Given the description of an element on the screen output the (x, y) to click on. 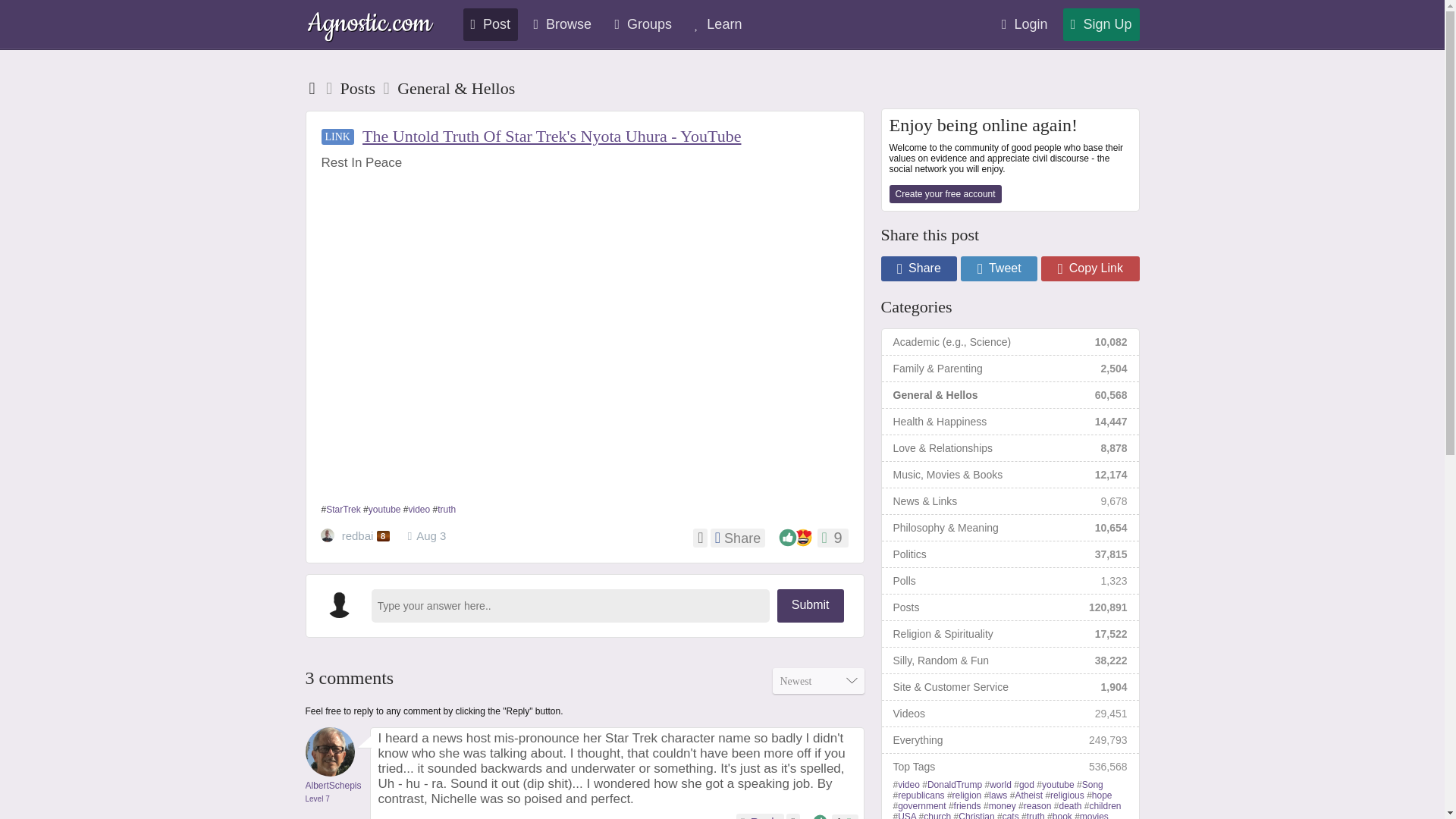
Posts (358, 88)
video (419, 509)
Sign Up (1101, 24)
youtube (384, 509)
StarTrek (343, 509)
truth (446, 509)
redbai 8 (356, 536)
Groups (643, 24)
Love (802, 537)
Learn (718, 24)
Post (490, 24)
Like (787, 537)
The Untold Truth Of Star Trek's Nyota Uhura - YouTube (551, 135)
Level 8.1 (383, 535)
Browse (561, 24)
